Given the description of an element on the screen output the (x, y) to click on. 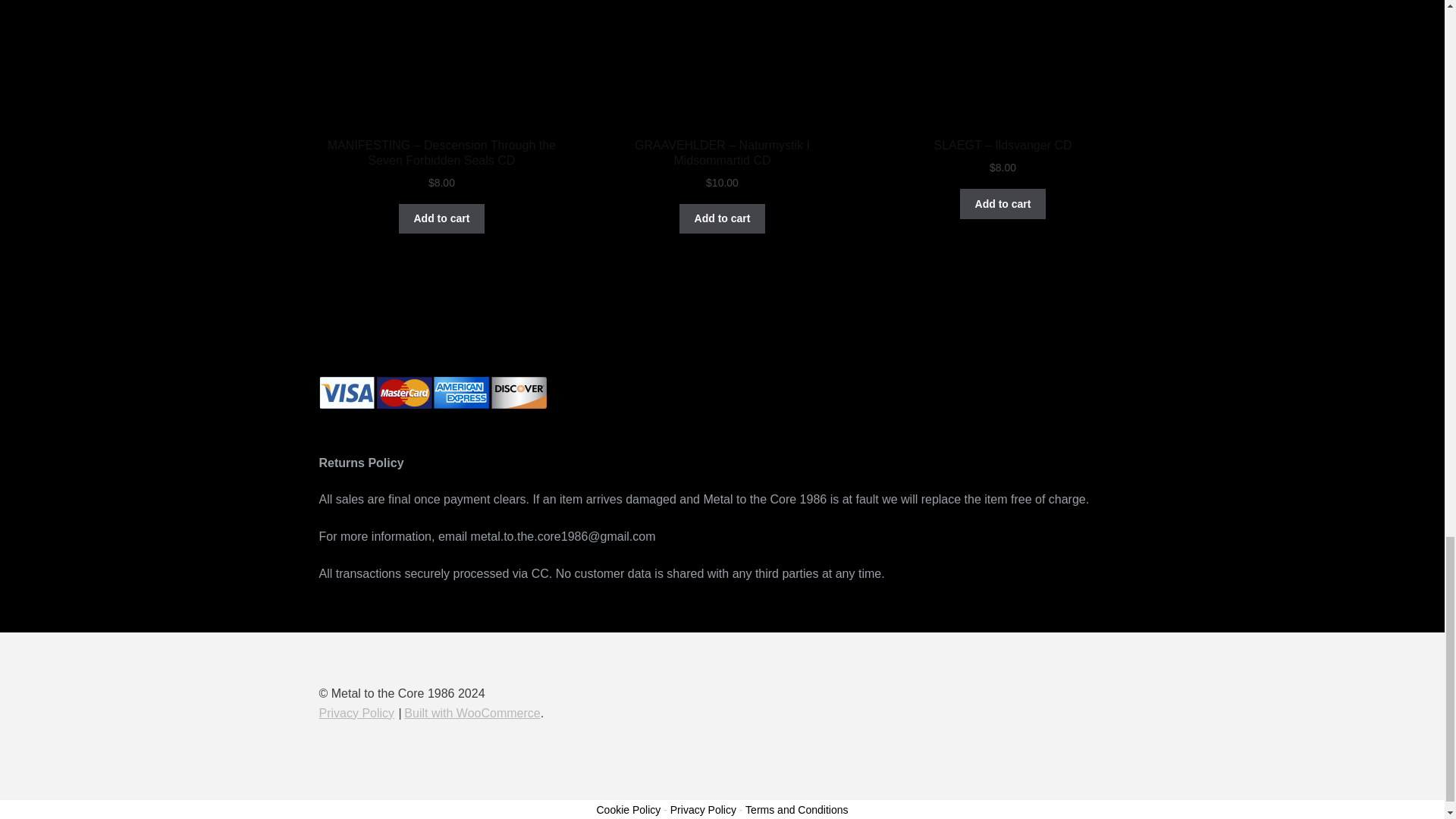
Add to cart (722, 218)
WooCommerce - The Best eCommerce Platform for WordPress (472, 712)
Add to cart (1002, 204)
Add to cart (441, 218)
